Given the description of an element on the screen output the (x, y) to click on. 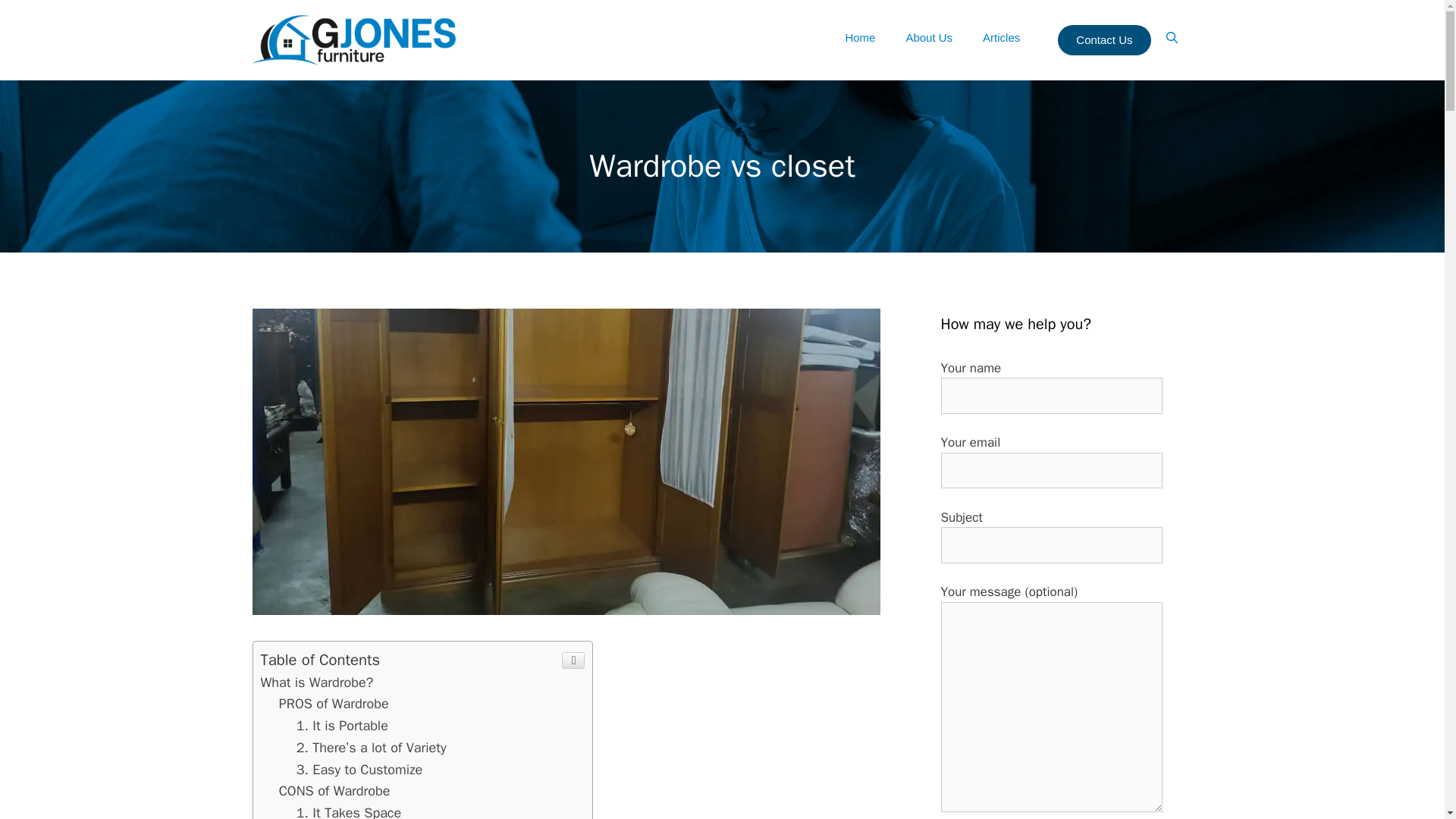
1. It Takes Space (349, 811)
3. Easy to Customize (359, 769)
About Us (928, 37)
CONS of Wardrobe (334, 790)
Home (859, 37)
CONS of Wardrobe (334, 790)
PROS of Wardrobe (333, 703)
1. It is Portable (342, 725)
3. Easy to Customize (359, 769)
1. It Takes Space (349, 811)
